Given the description of an element on the screen output the (x, y) to click on. 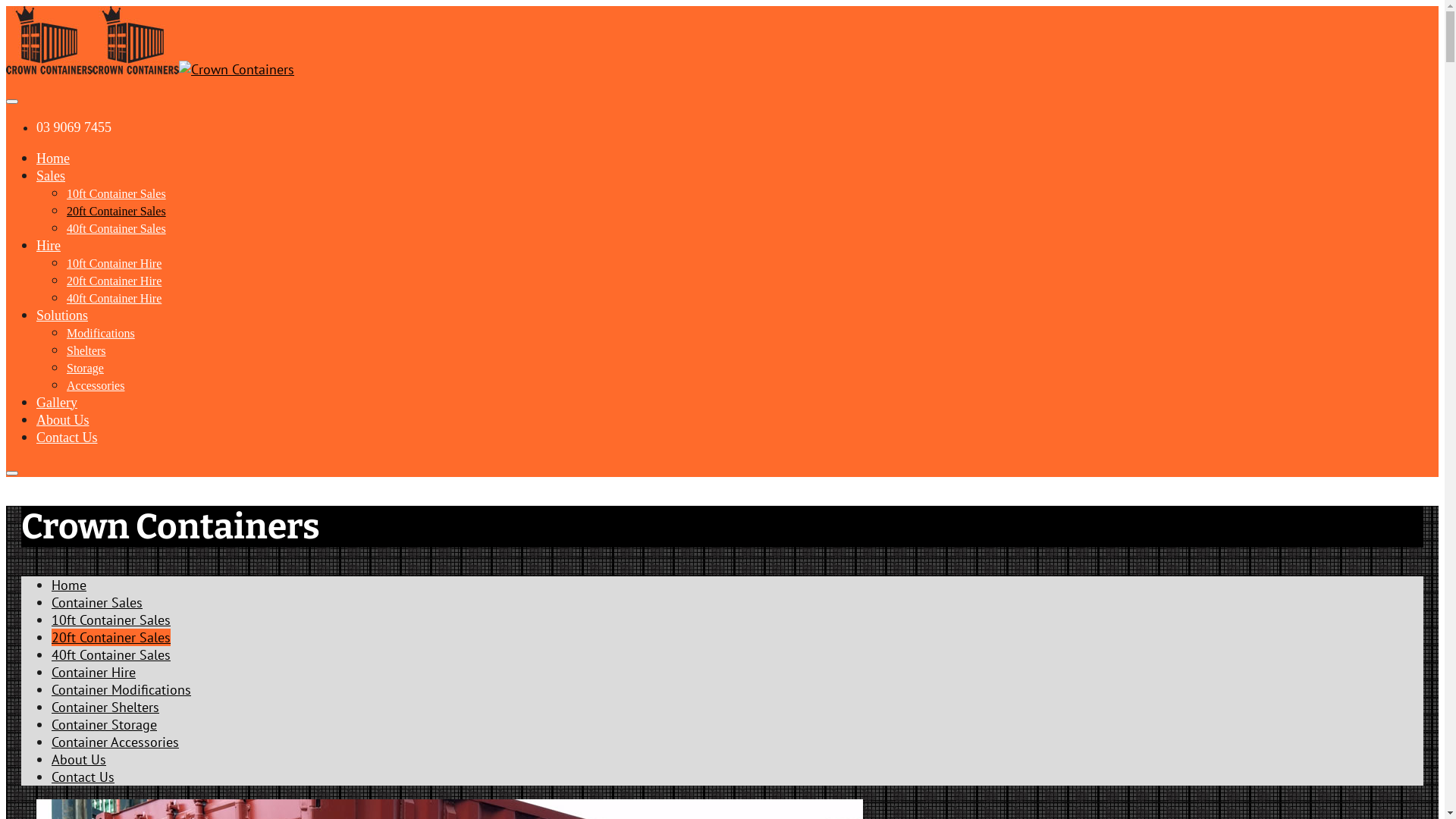
Container Modifications Element type: text (121, 689)
Container Sales Element type: text (96, 602)
Container Storage Element type: text (103, 724)
40ft Container Sales Element type: text (110, 654)
Accessories Element type: text (95, 385)
Sales Element type: text (50, 175)
Container Shelters Element type: text (105, 706)
Solutions Element type: text (61, 315)
10ft Container Sales Element type: text (110, 619)
10ft Container Sales Element type: text (116, 192)
About Us Element type: text (62, 419)
10ft Container Hire Element type: text (113, 262)
Home Element type: text (68, 584)
Container Hire Element type: text (93, 671)
Gallery Element type: text (56, 401)
Contact Us Element type: text (82, 776)
20ft Container Sales Element type: text (116, 210)
Home Element type: text (52, 157)
About Us Element type: text (78, 759)
Hire Element type: text (48, 245)
20ft Container Sales Element type: text (110, 637)
40ft Container Sales Element type: text (116, 227)
40ft Container Hire Element type: text (113, 297)
20ft Container Hire Element type: text (113, 280)
Contact Us Element type: text (66, 436)
Storage Element type: text (84, 366)
Container Accessories Element type: text (114, 741)
Shelters Element type: text (86, 350)
Modifications Element type: text (100, 332)
